Given the description of an element on the screen output the (x, y) to click on. 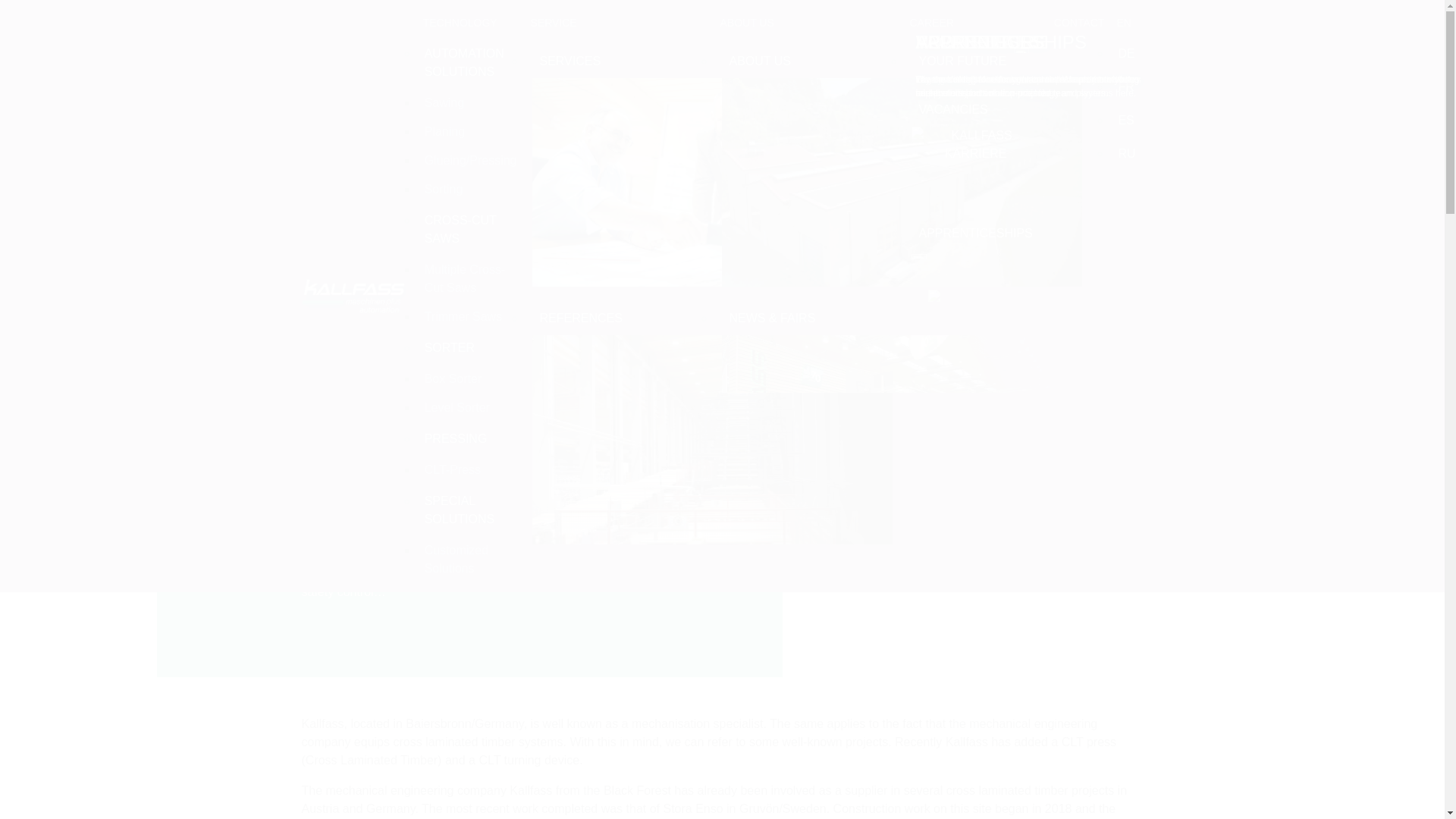
CLT-Press (470, 469)
SPECIAL SOLUTIONS (470, 510)
SERVICE (553, 22)
Level Sorter (470, 407)
Planing (470, 131)
Trimmer Saws (470, 316)
AUTOMATION SOLUTIONS (470, 62)
Box Sorter (470, 378)
TECHNOLOGY (459, 22)
